Given the description of an element on the screen output the (x, y) to click on. 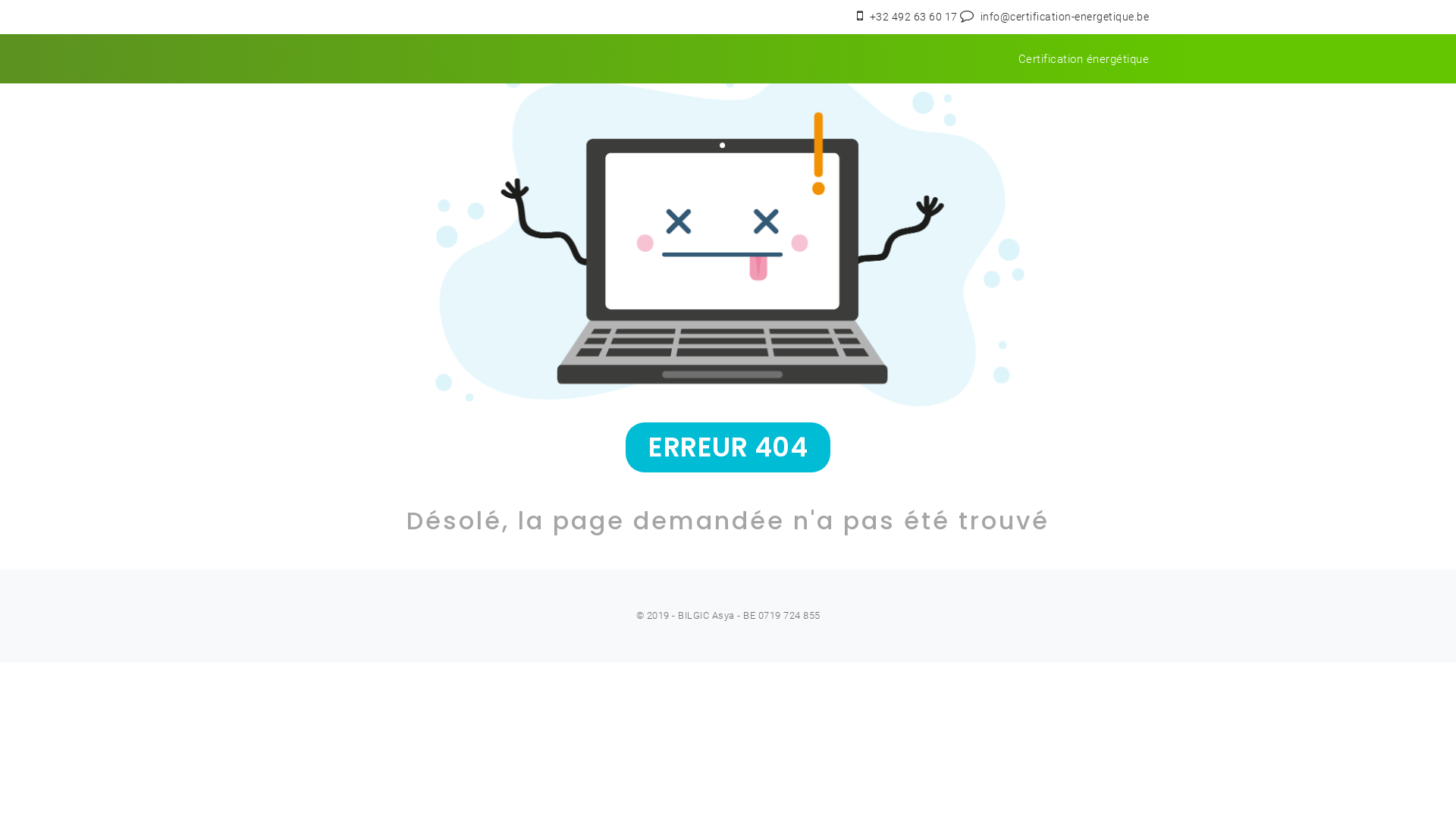
+32 492 63 60 17 Element type: text (914, 16)
info@certification-energetique.be Element type: text (1063, 16)
BE 0719 724 855 Element type: text (781, 615)
